Given the description of an element on the screen output the (x, y) to click on. 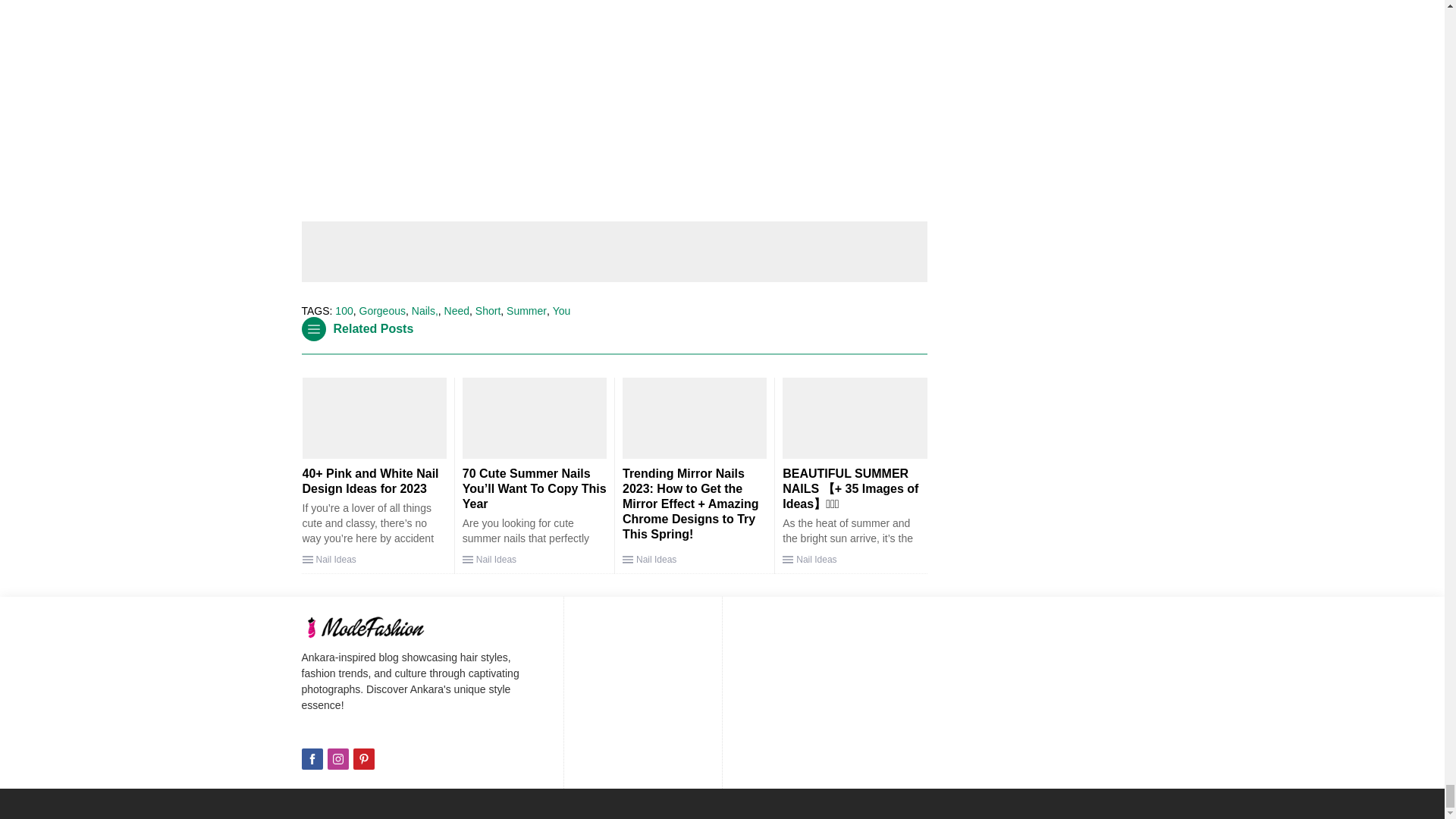
Nail Ideas (335, 559)
Gorgeous (382, 310)
Nails, (425, 310)
100 (343, 310)
Pinterest (363, 758)
Fashion Lifestyle Trends (381, 626)
Summer (526, 310)
Need (456, 310)
Facebook (312, 758)
Short (488, 310)
